Given the description of an element on the screen output the (x, y) to click on. 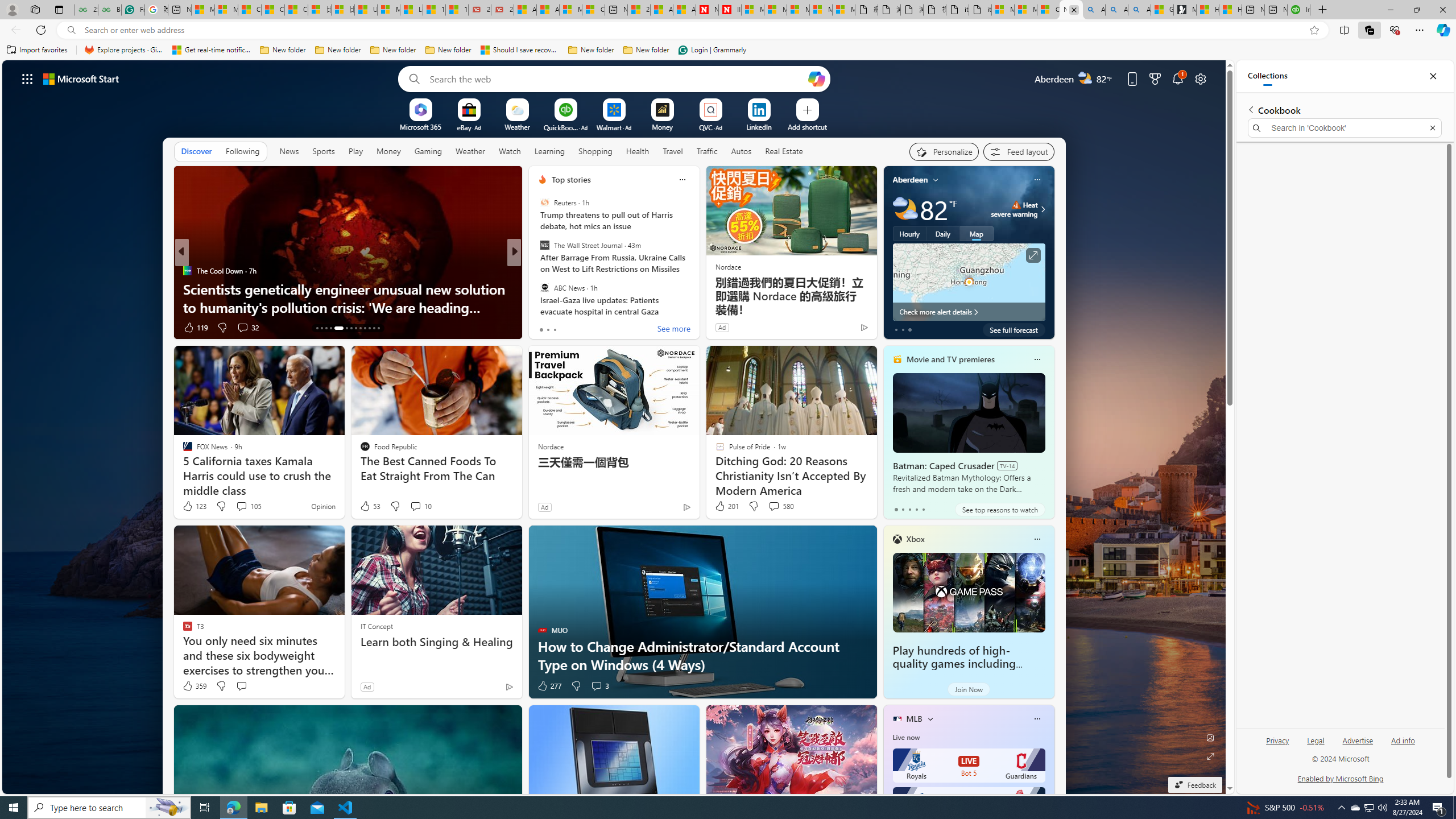
View comments 32 Comment (241, 327)
MLB (914, 718)
AutomationID: tab-20 (355, 328)
AutomationID: tab-22 (364, 328)
View comments 413 Comment (592, 327)
Microsoft start (81, 78)
